Given the description of an element on the screen output the (x, y) to click on. 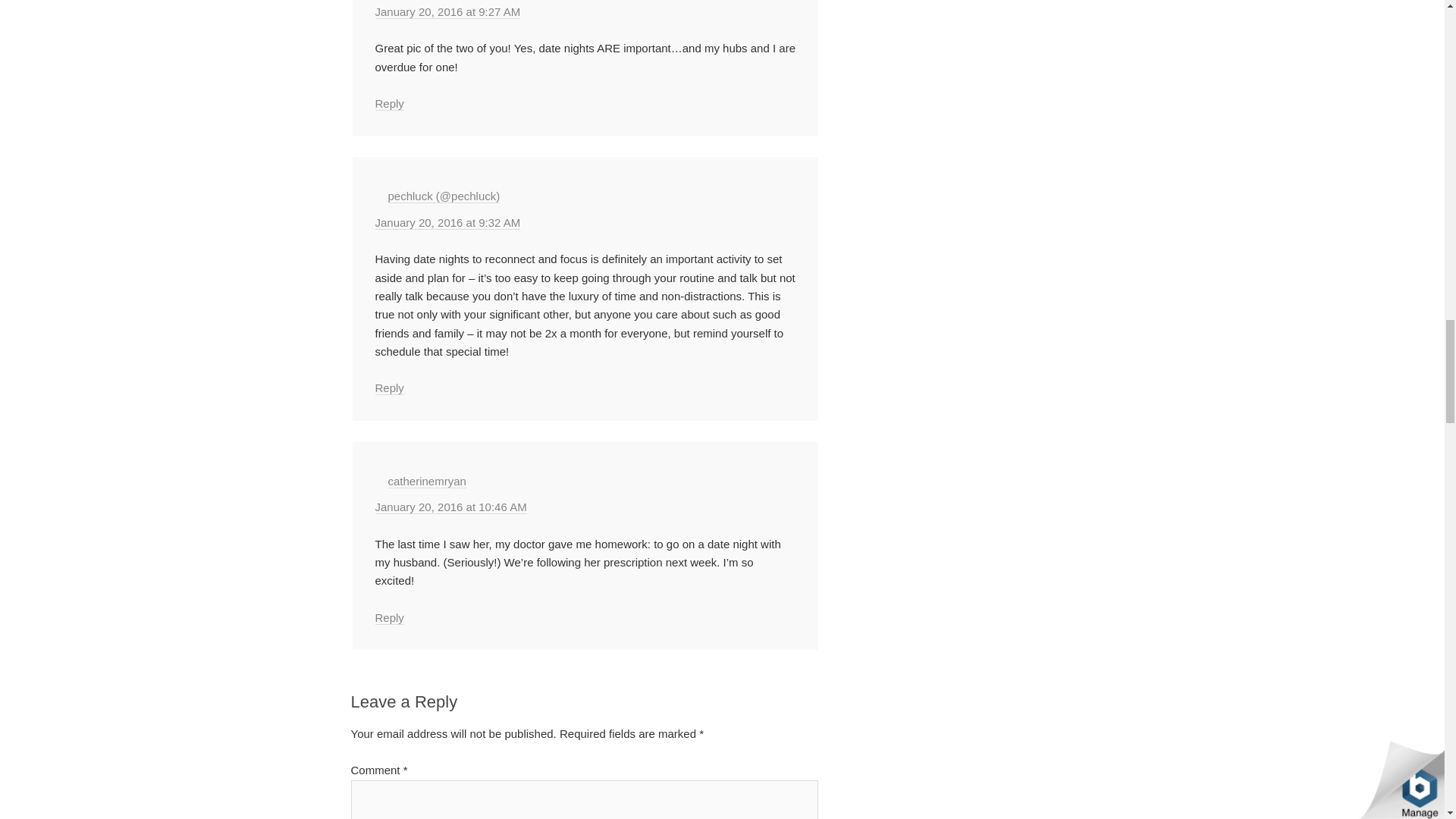
January 20, 2016 at 10:46 AM (449, 507)
Wednesday, January 20, 2016, 9:32 am (446, 223)
January 20, 2016 at 9:27 AM (446, 11)
catherinemryan (426, 481)
Reply (388, 387)
Wednesday, January 20, 2016, 10:46 am (449, 507)
Reply (388, 103)
January 20, 2016 at 9:32 AM (446, 223)
Wednesday, January 20, 2016, 9:27 am (446, 11)
Reply (388, 617)
